Given the description of an element on the screen output the (x, y) to click on. 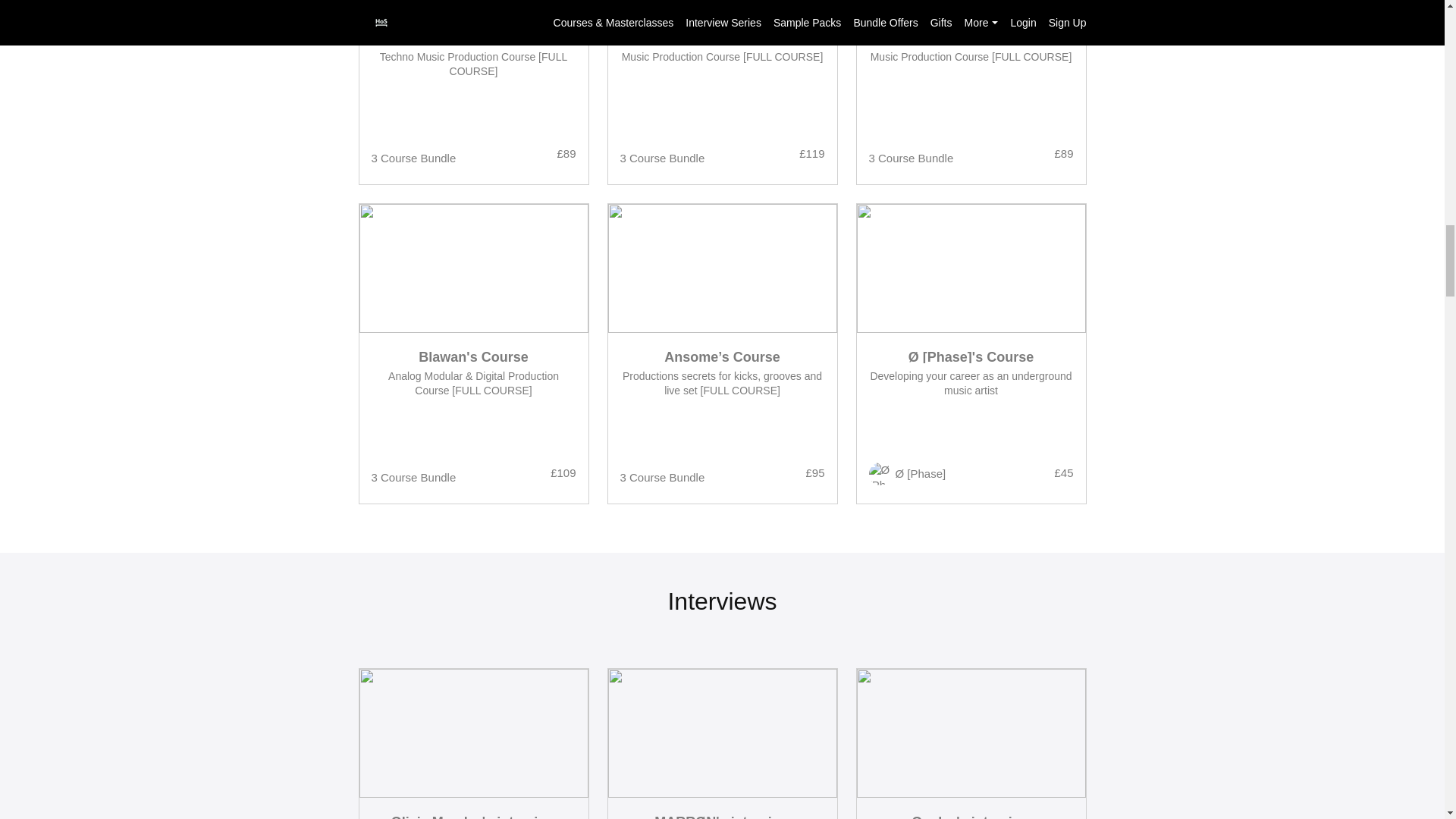
Blawan's Course (473, 744)
Temudo's Course (473, 357)
